Given the description of an element on the screen output the (x, y) to click on. 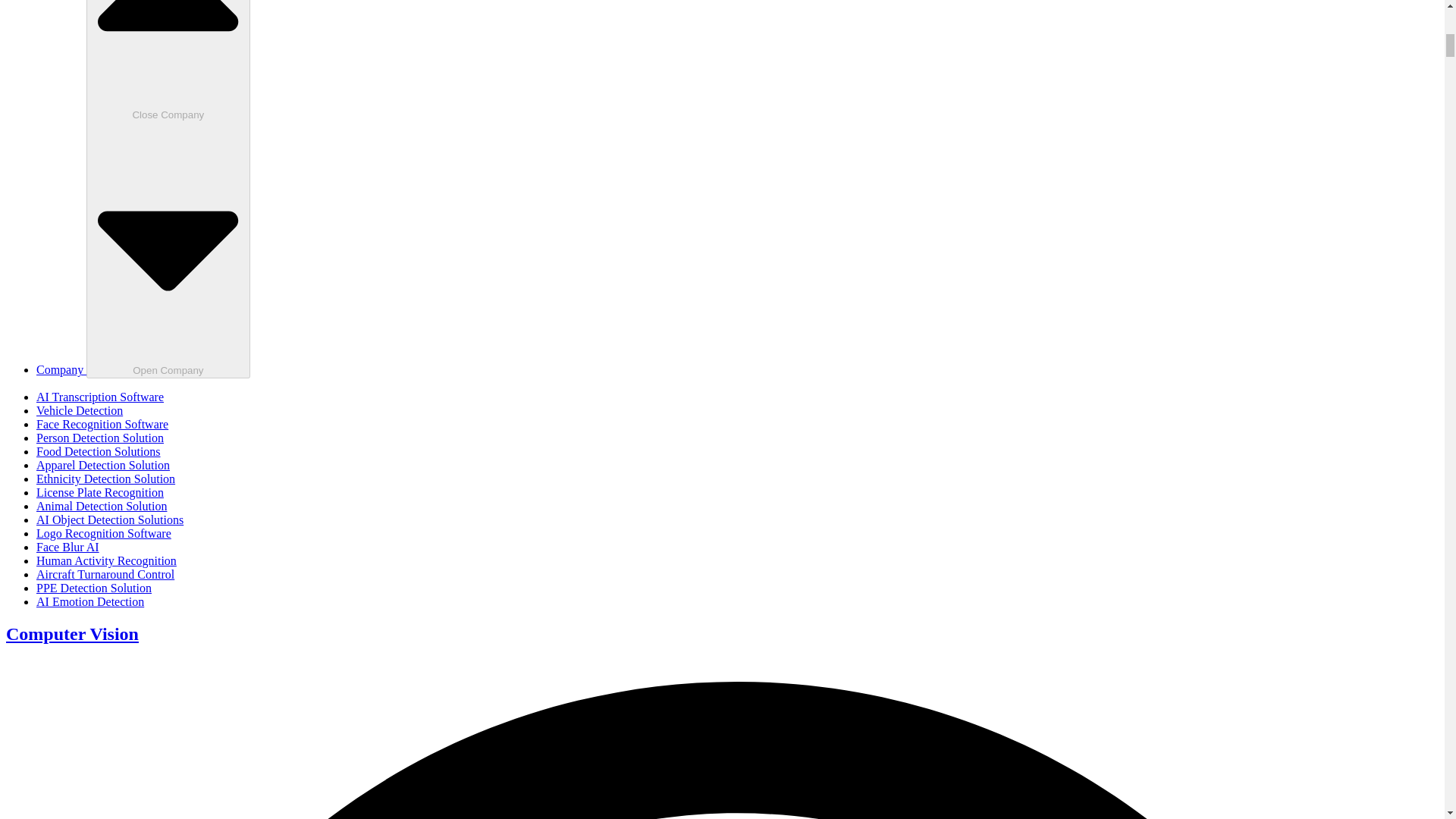
Ethnicity Detection Solution (105, 478)
Aircraft Turnaround Control (105, 574)
Company (60, 369)
Apparel Detection Solution (103, 464)
Face Blur AI (67, 546)
AI Transcription Software (99, 396)
License Plate Recognition (99, 492)
AI Object Detection Solutions (109, 519)
Person Detection Solution (99, 437)
Food Detection Solutions (98, 451)
Computer Vision (71, 633)
AI Emotion Detection (90, 601)
Human Activity Recognition (106, 560)
PPE Detection Solution (93, 587)
Logo Recognition Software (103, 533)
